Given the description of an element on the screen output the (x, y) to click on. 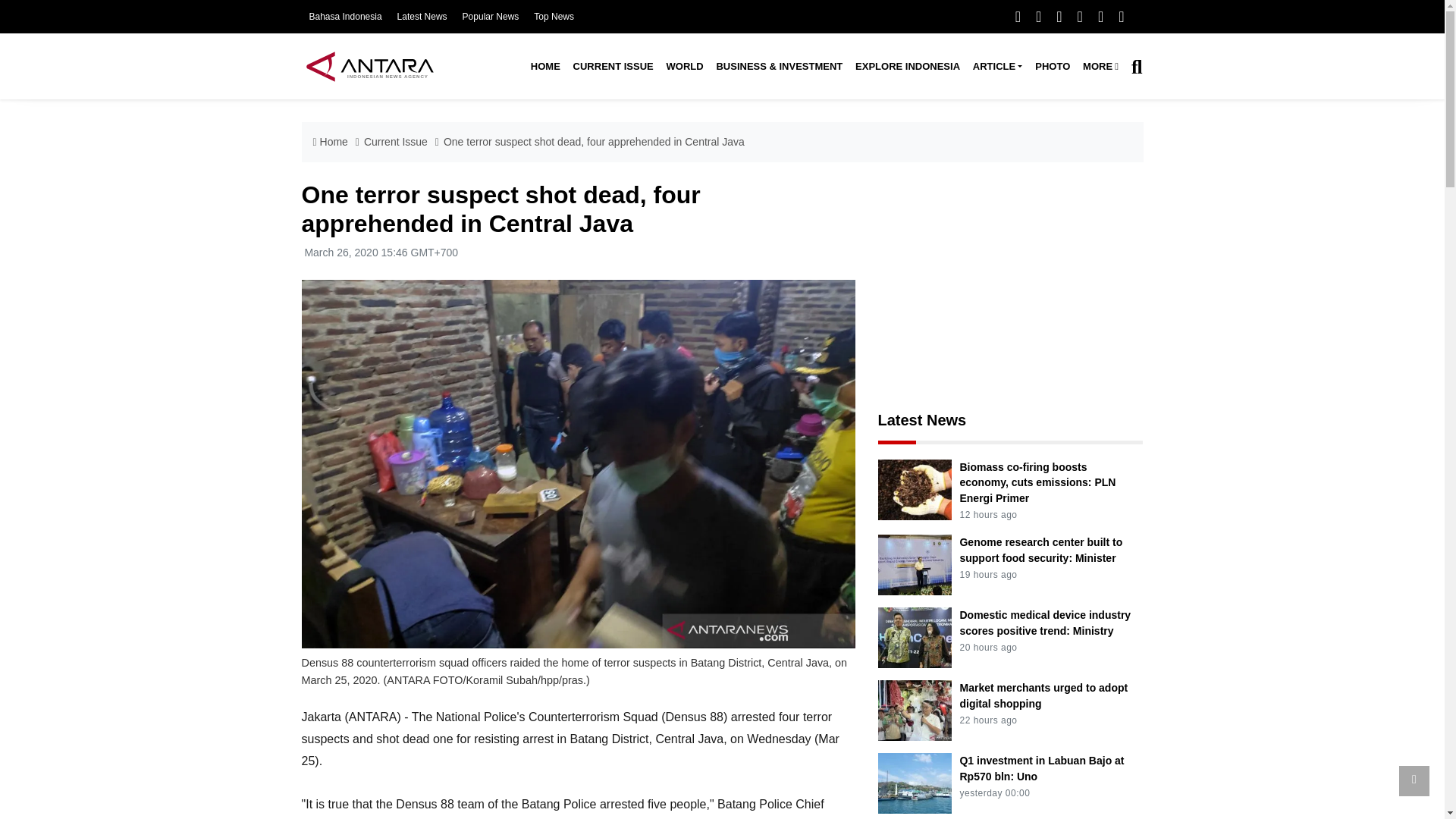
Bahasa Indonesia (344, 16)
Top News (553, 16)
EXPLORE INDONESIA (907, 66)
Popular News (491, 16)
ANTARA News (369, 66)
ARTICLE (996, 66)
Latest News (421, 16)
Top News (553, 16)
Article (996, 66)
